Given the description of an element on the screen output the (x, y) to click on. 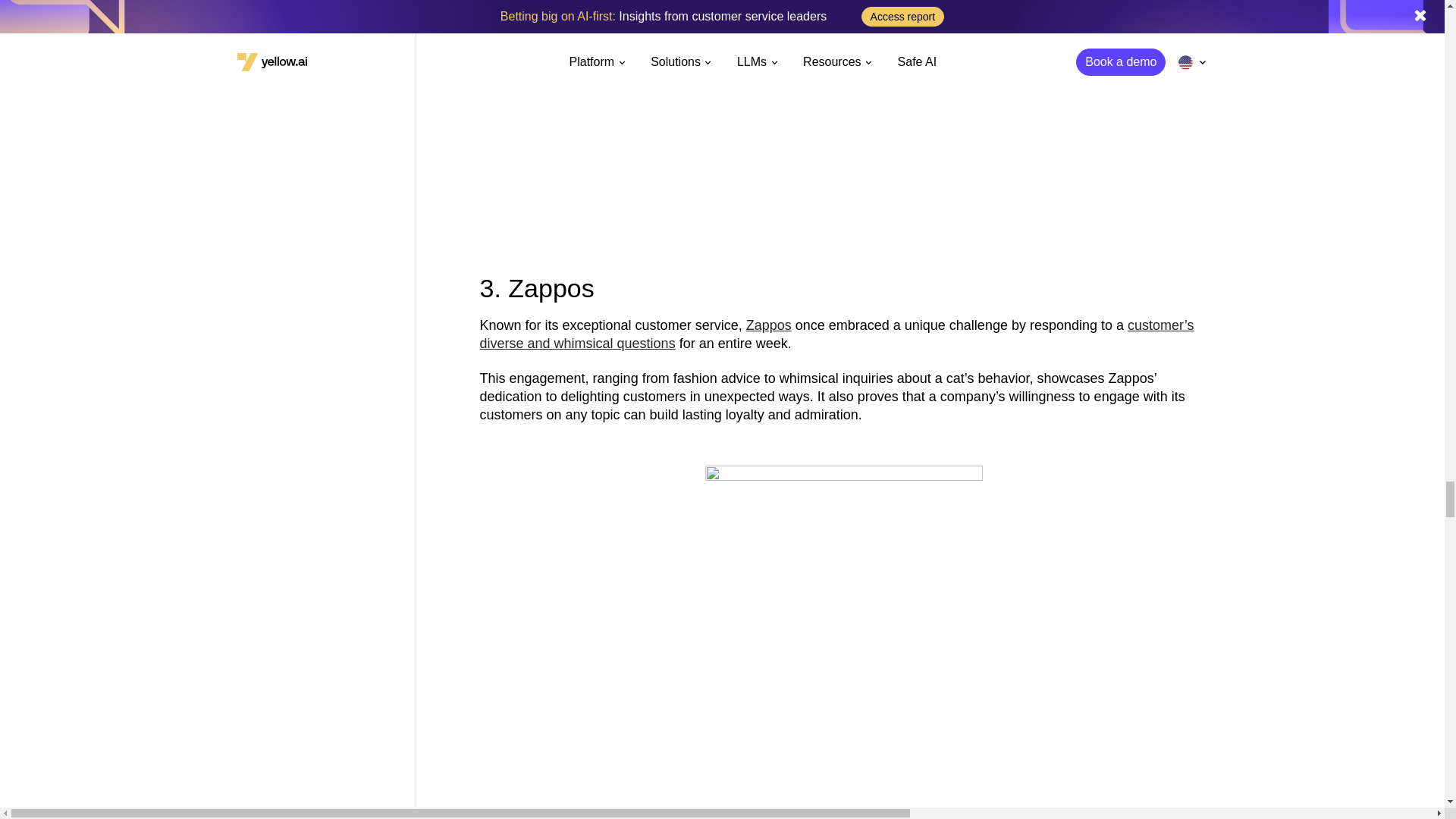
Coca-Cola Thank You Fund 2022 (842, 115)
